Given the description of an element on the screen output the (x, y) to click on. 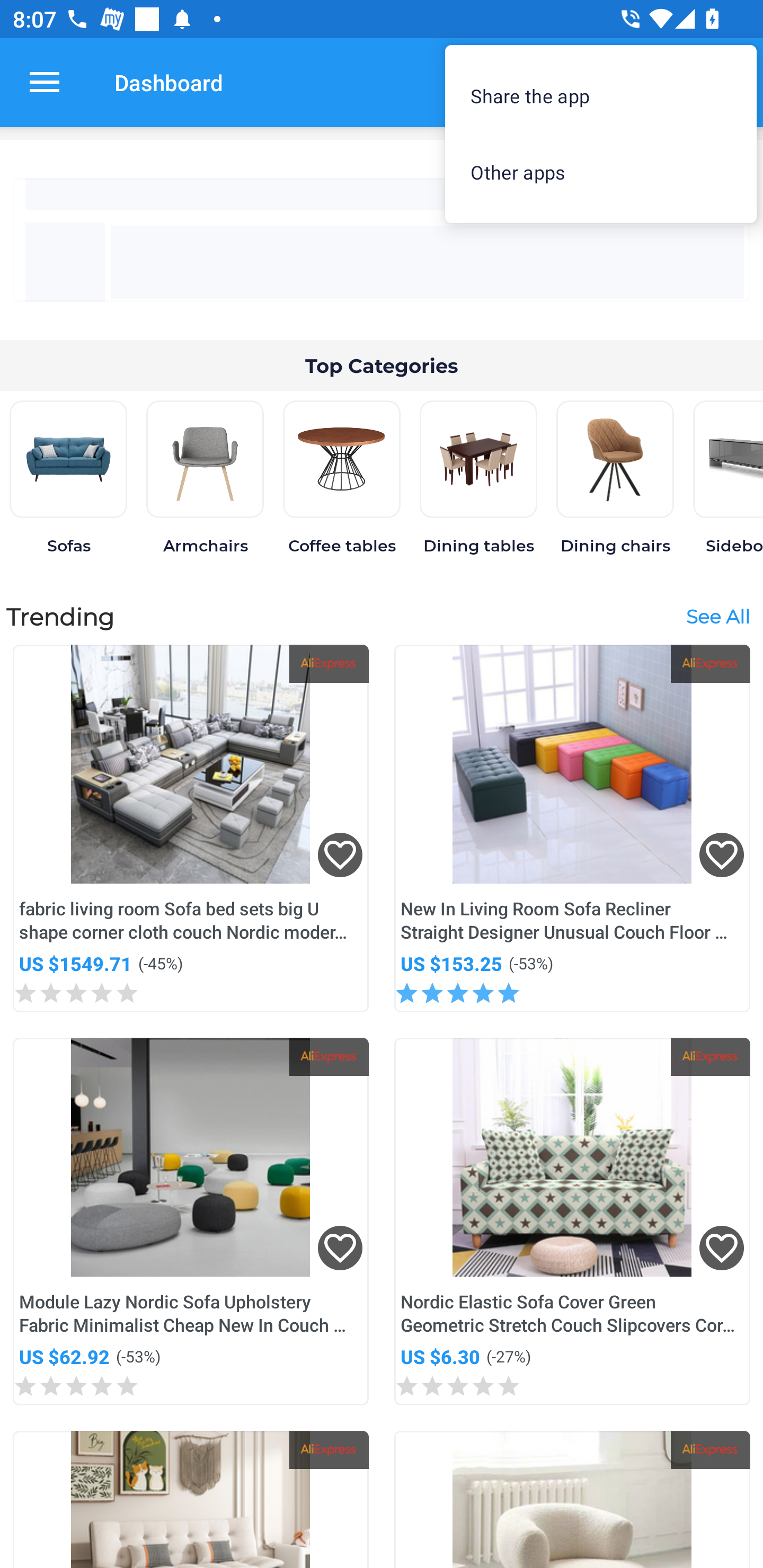
Share the app (600, 95)
Other apps (600, 171)
